Given the description of an element on the screen output the (x, y) to click on. 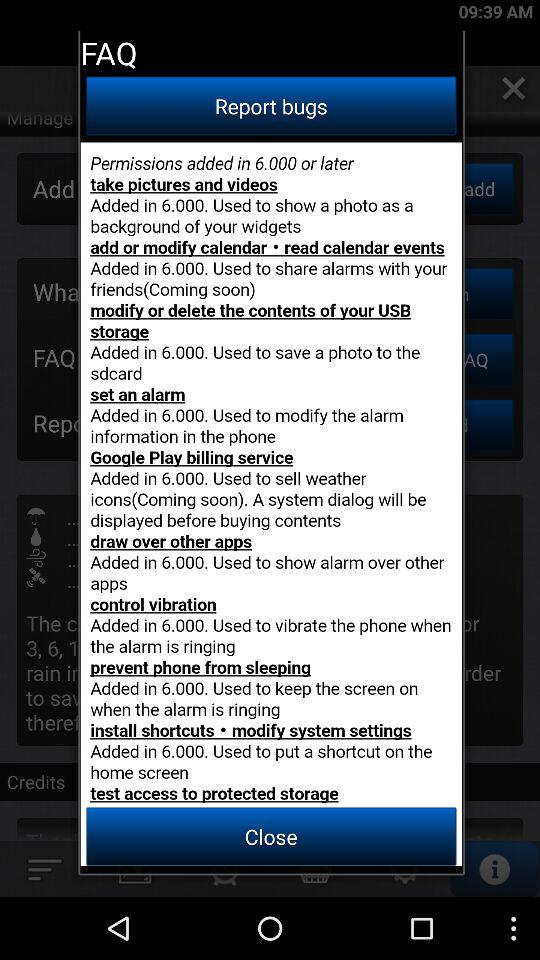
close bug report (271, 504)
